Given the description of an element on the screen output the (x, y) to click on. 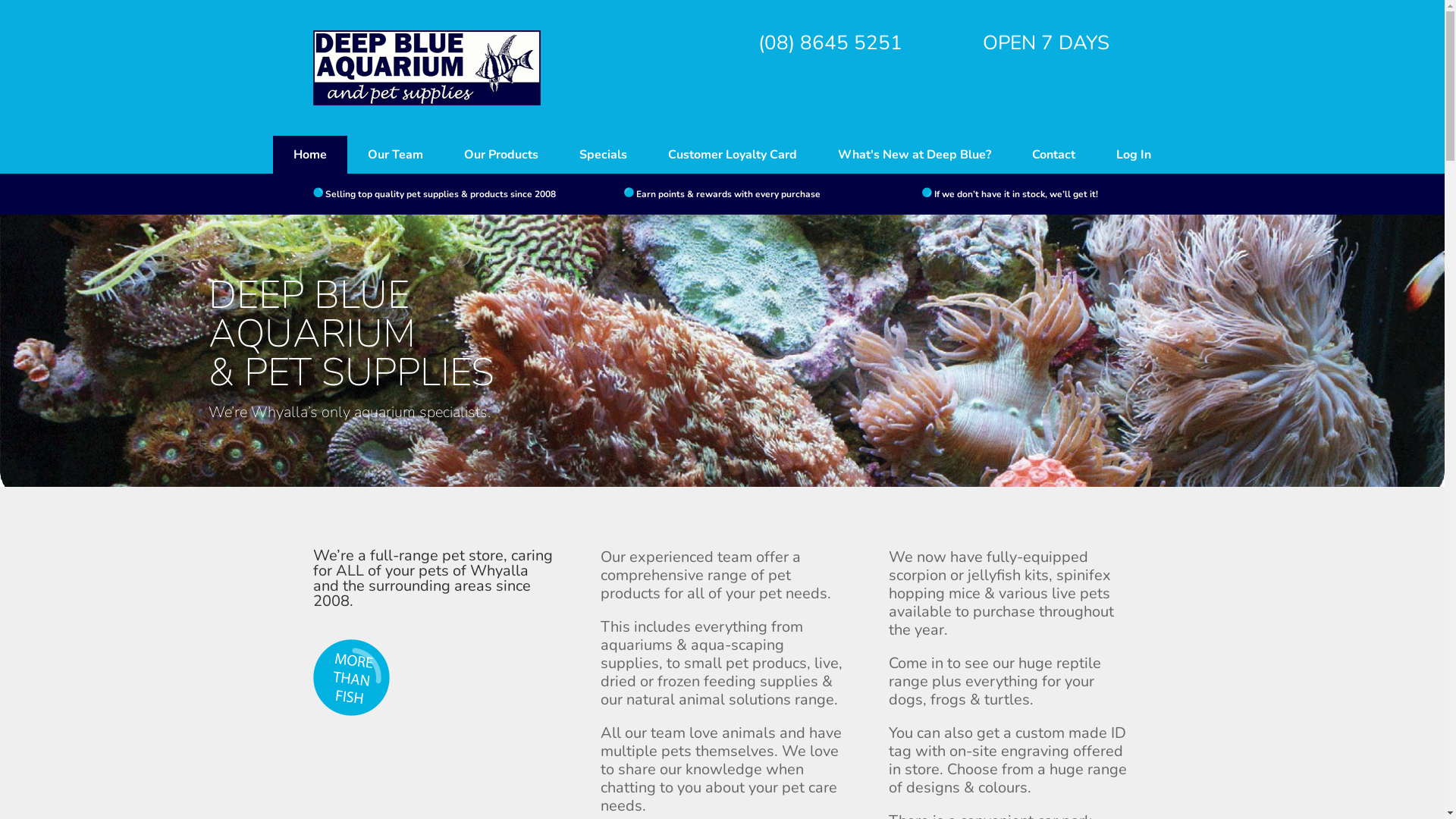
Customer Loyalty Card Element type: text (732, 154)
Home Element type: text (310, 154)
Contact Element type: text (1053, 154)
Log In Element type: text (1133, 154)
Our Products Element type: text (500, 154)
What's New at Deep Blue? Element type: text (914, 154)
Our Team Element type: text (395, 154)
Specials Element type: text (602, 154)
